Given the description of an element on the screen output the (x, y) to click on. 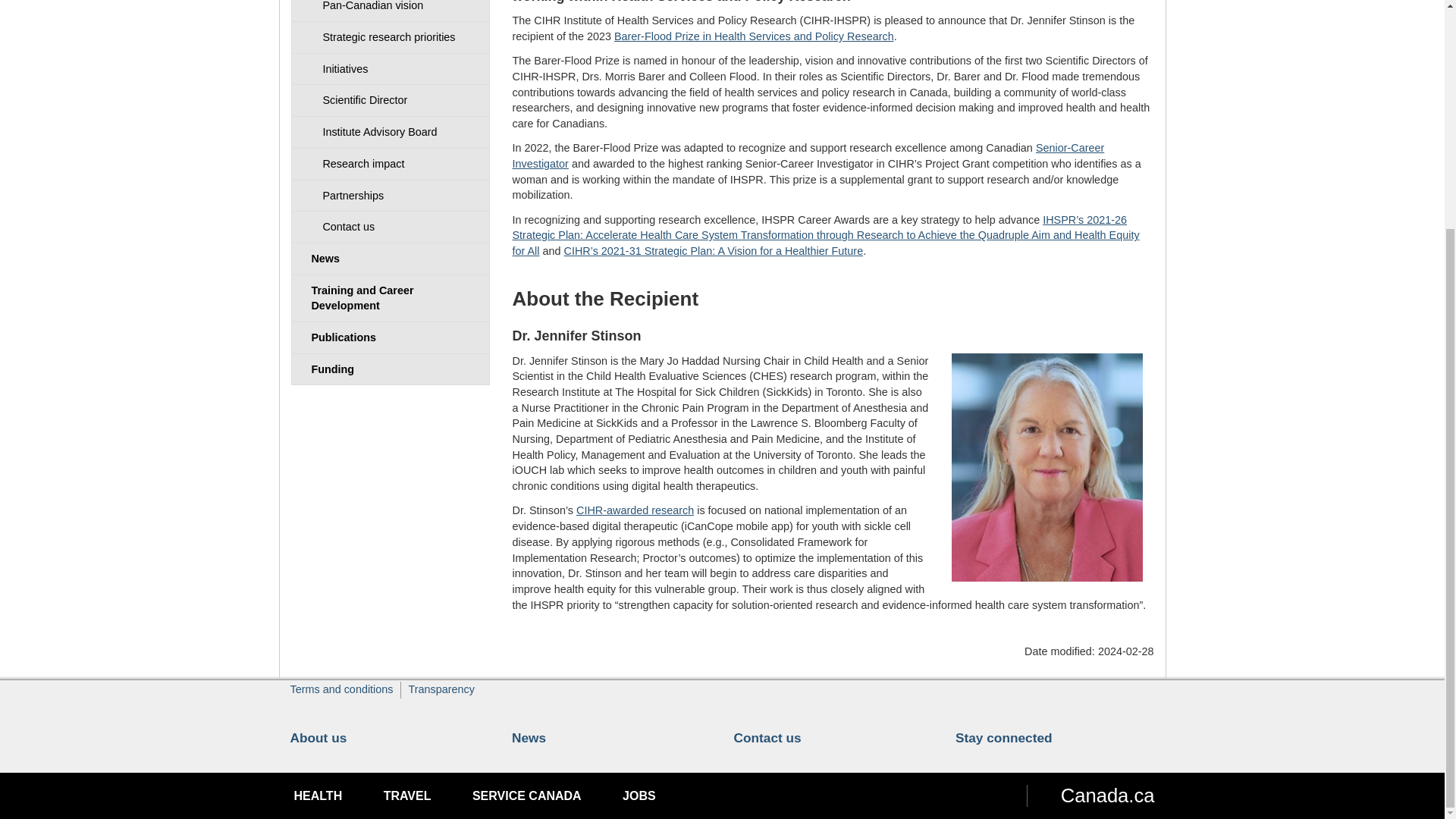
Initiatives (390, 69)
Barer-Flood Prize in Health Services and Policy Research (753, 36)
Terms and conditions (341, 689)
Research impact (390, 164)
Scientific Director (390, 100)
Training and Career Development (390, 298)
CIHR-awarded research (635, 510)
News (390, 258)
Senior-Career Investigator (808, 155)
Partnerships (390, 195)
